Given the description of an element on the screen output the (x, y) to click on. 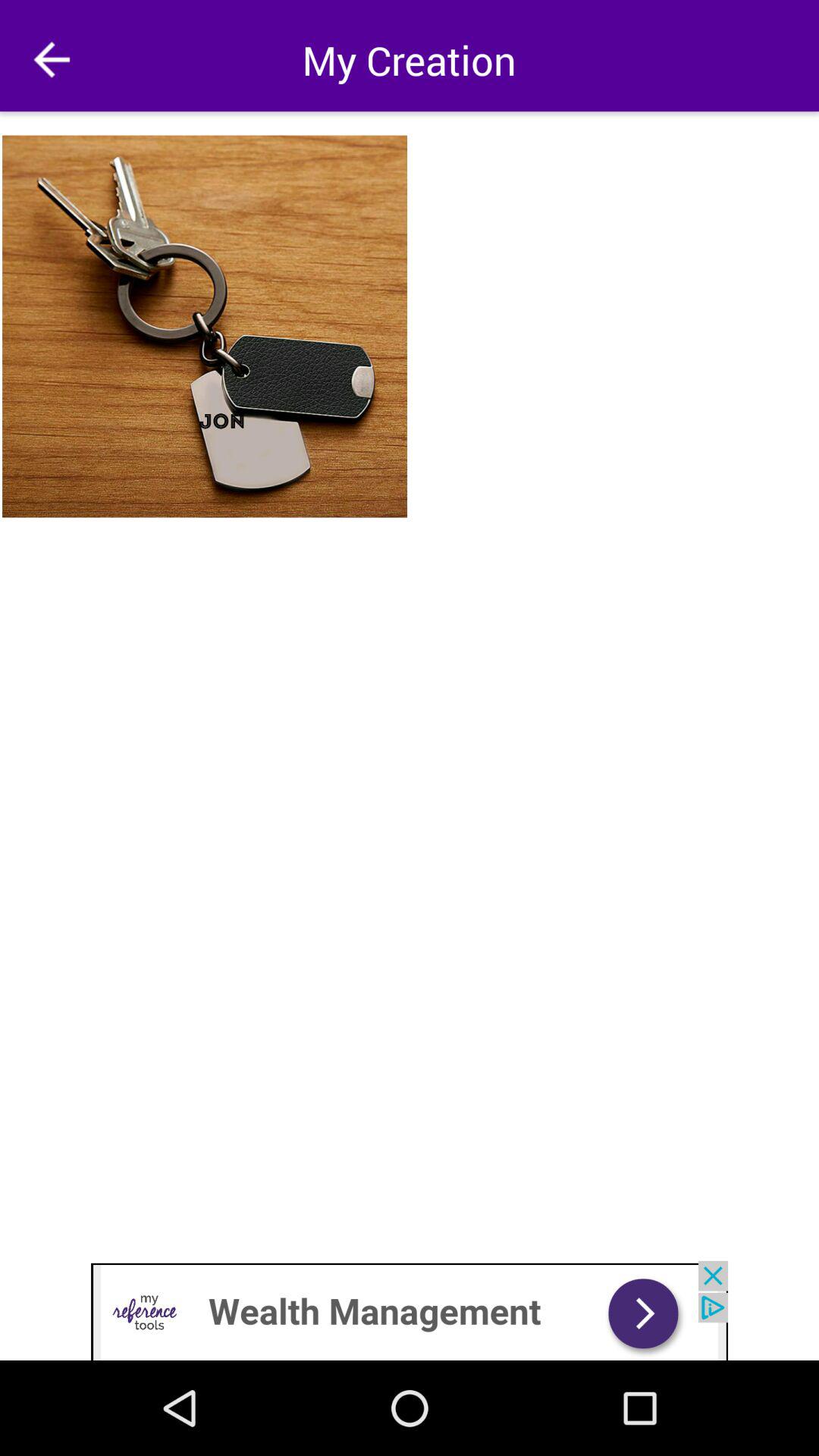
go to pervious (51, 59)
